Given the description of an element on the screen output the (x, y) to click on. 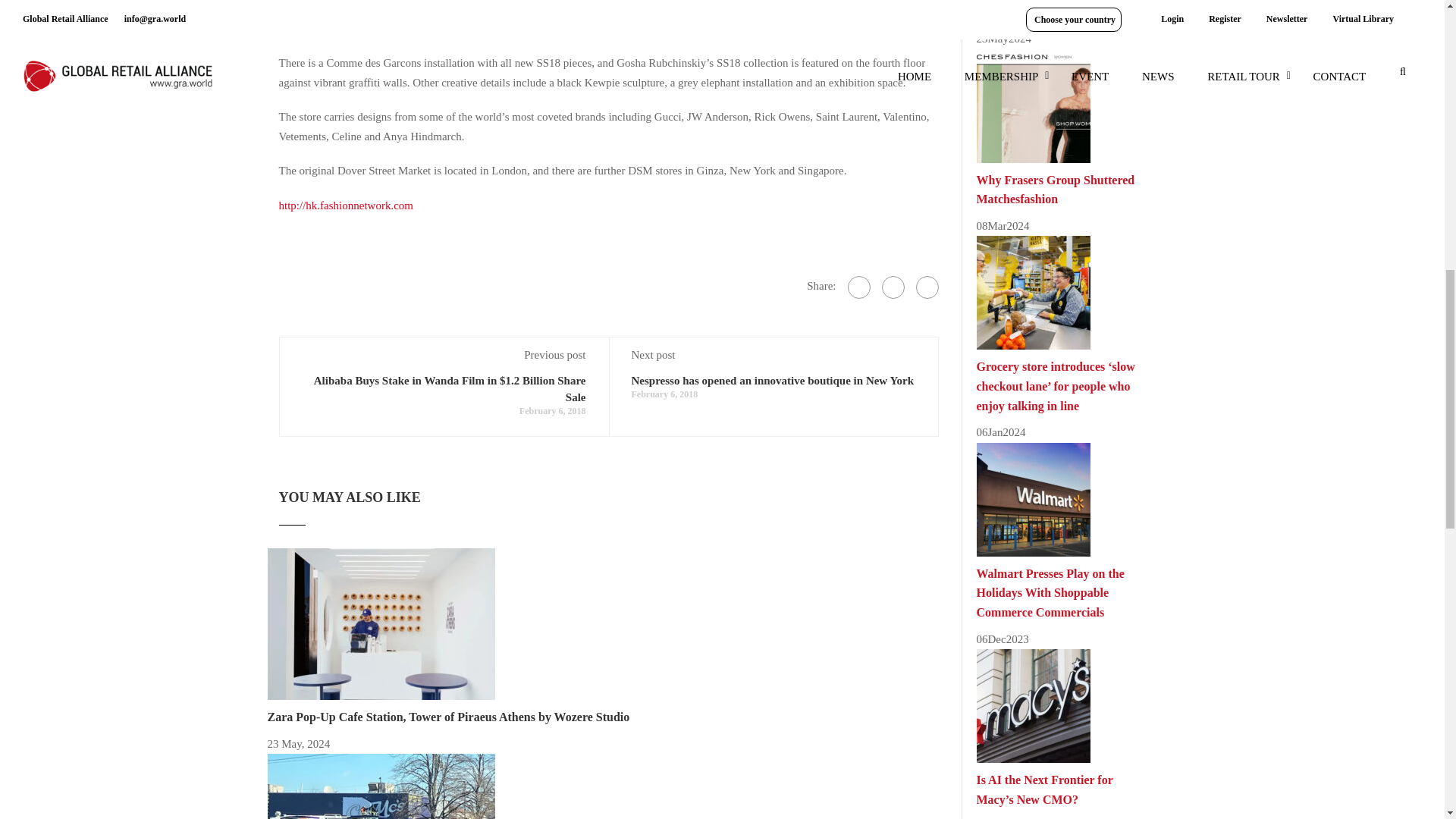
Facebook (858, 287)
zara-popup-cafe-athens (380, 623)
Twitter (892, 287)
